Given the description of an element on the screen output the (x, y) to click on. 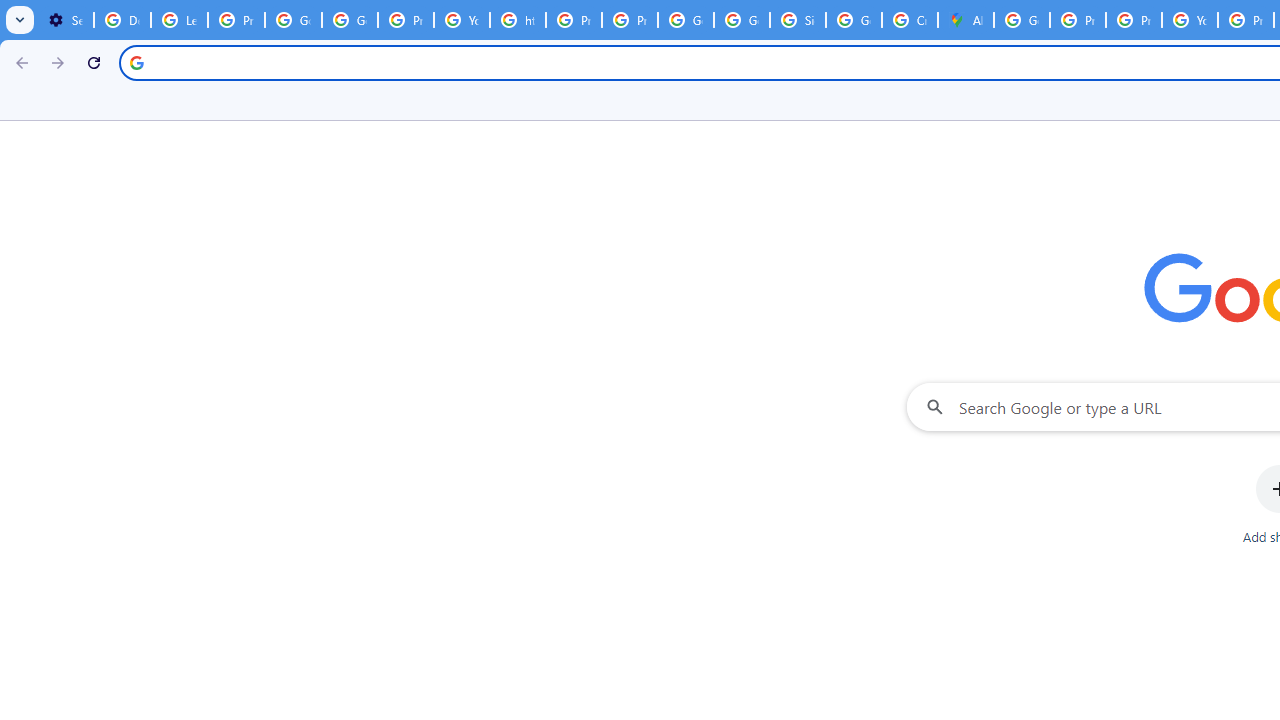
Create your Google Account (909, 20)
Delete photos & videos - Computer - Google Photos Help (122, 20)
Google Account Help (293, 20)
https://scholar.google.com/ (518, 20)
